Given the description of an element on the screen output the (x, y) to click on. 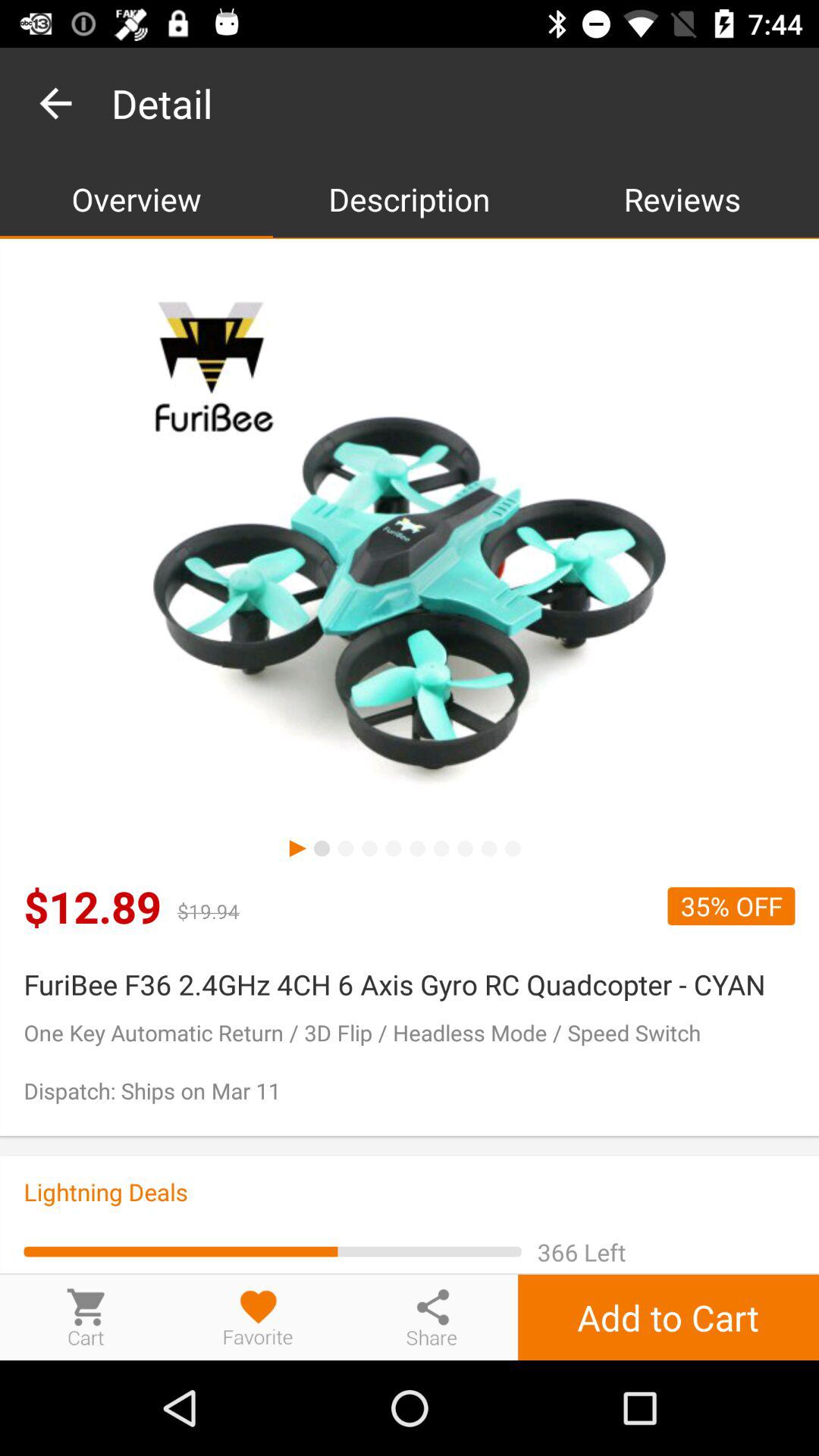
favorite item (258, 1317)
